Given the description of an element on the screen output the (x, y) to click on. 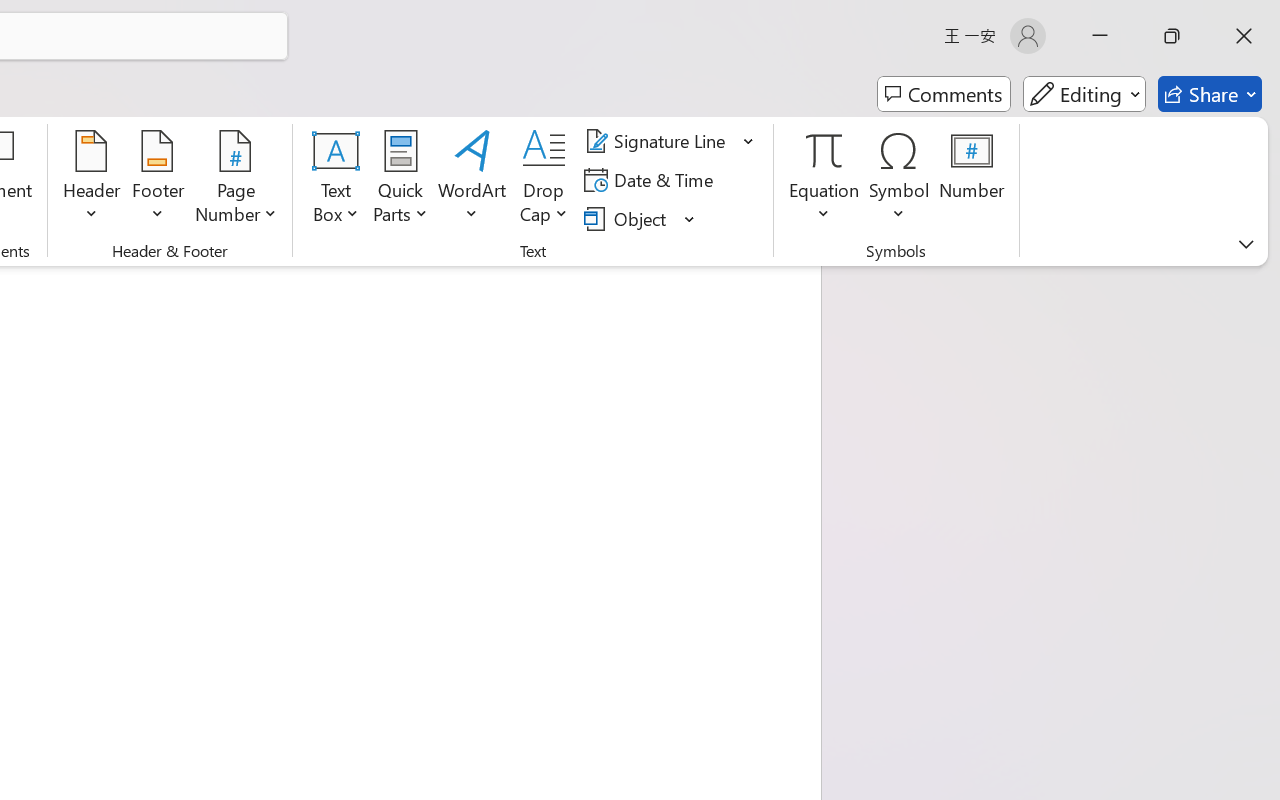
Close (1244, 36)
Mode (1083, 94)
Share (1210, 94)
Comments (943, 94)
Minimize (1099, 36)
Restore Down (1172, 36)
